Given the description of an element on the screen output the (x, y) to click on. 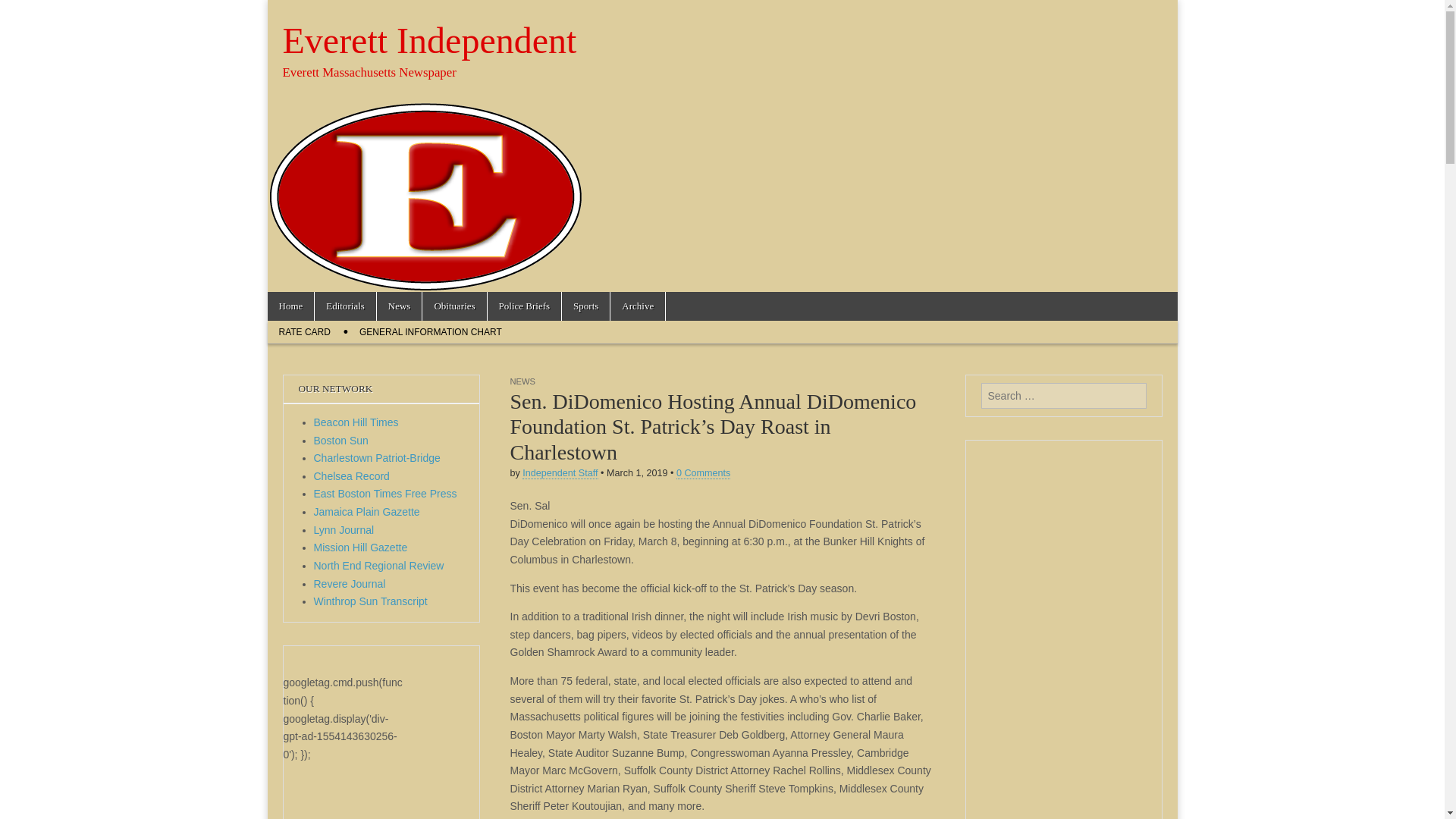
0 Comments (703, 473)
Posts by Independent Staff (559, 473)
North End Regional Review (379, 565)
NEWS (522, 380)
Police Briefs (524, 306)
Boston Sun (341, 440)
Everett Independent (429, 40)
Obituaries (454, 306)
Charlestown Patriot-Bridge (377, 458)
Everett Independent (429, 40)
Chelsea Record (352, 476)
Editorials (344, 306)
Mission Hill Gazette (360, 547)
Independent Staff (559, 473)
